Given the description of an element on the screen output the (x, y) to click on. 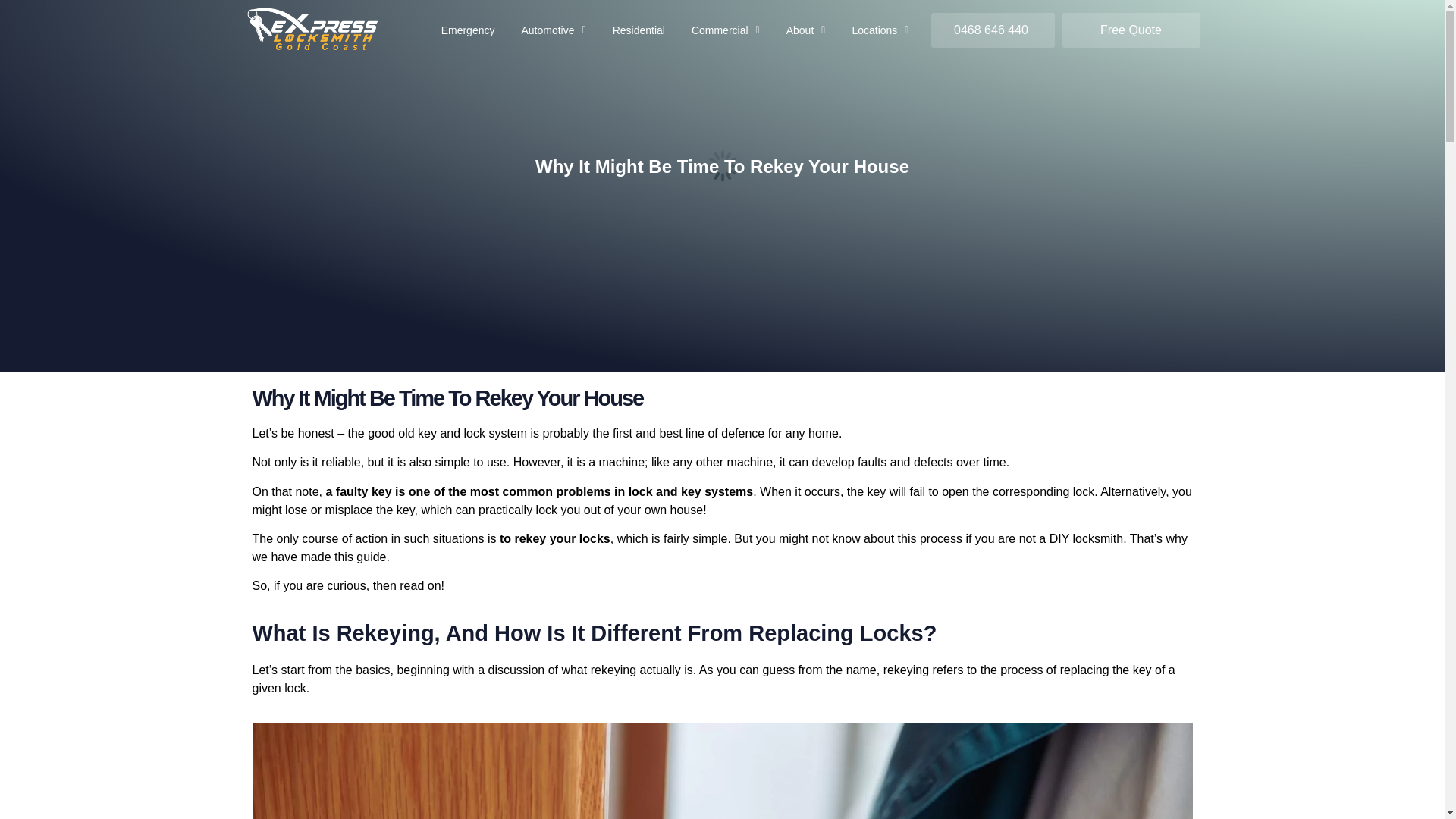
Automotive (553, 29)
About (805, 29)
Commercial (725, 29)
Locations (879, 29)
Residential (638, 29)
Emergency (468, 29)
